Given the description of an element on the screen output the (x, y) to click on. 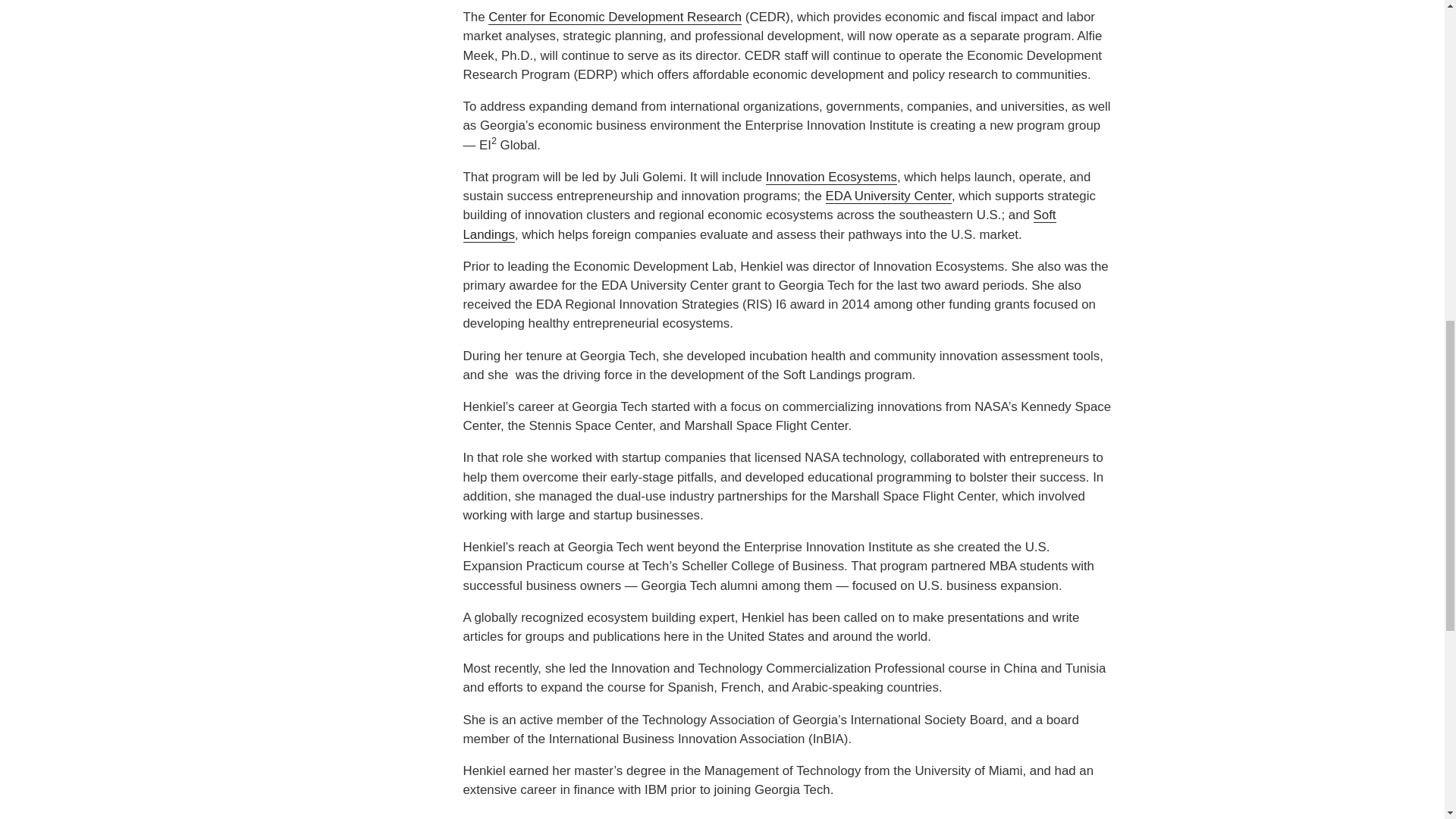
Center for Economic Development Research (614, 16)
EDA University Center (888, 196)
Innovation Ecosystems (830, 176)
